Given the description of an element on the screen output the (x, y) to click on. 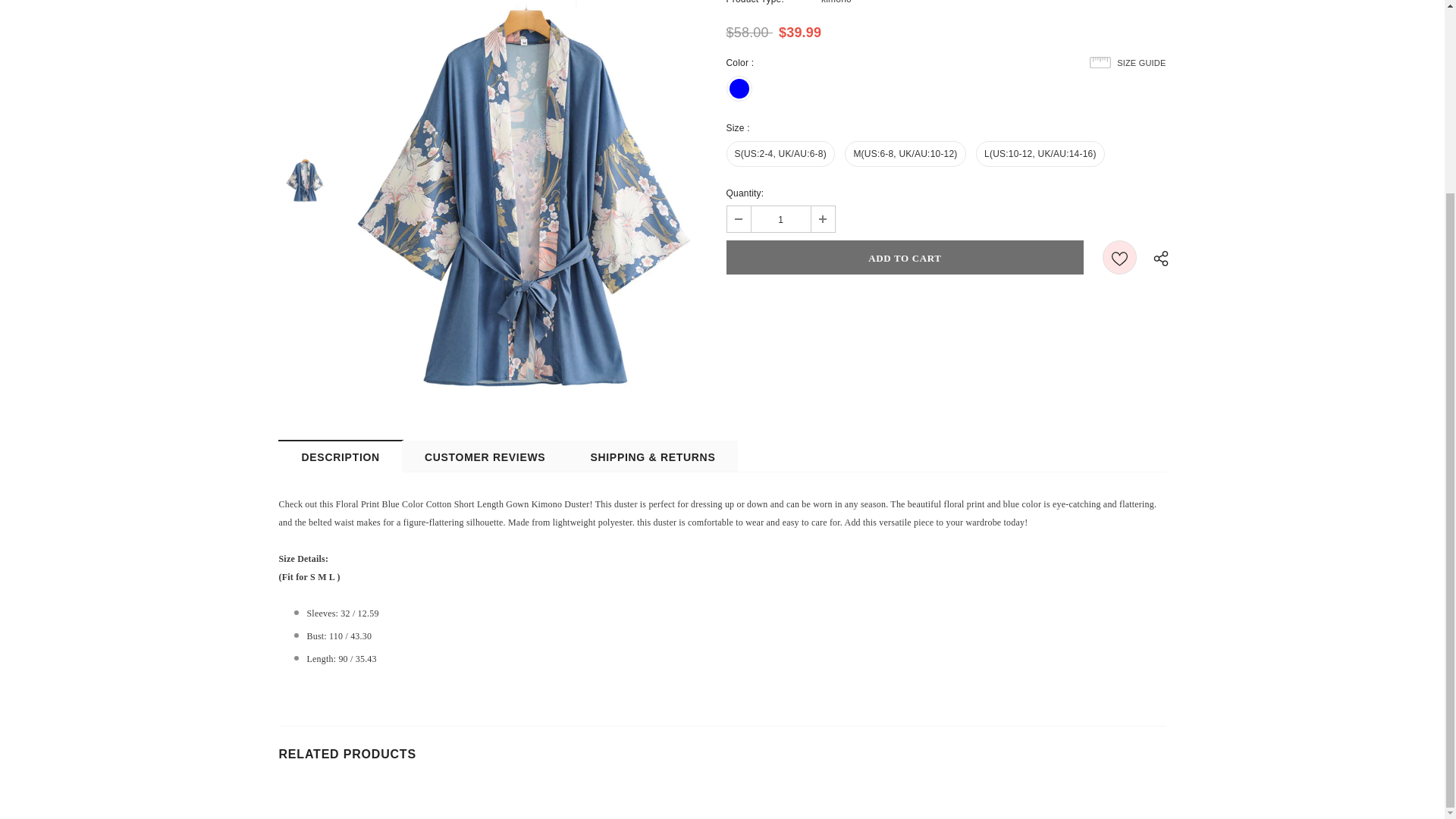
1 (780, 218)
Add to cart (905, 257)
